Given the description of an element on the screen output the (x, y) to click on. 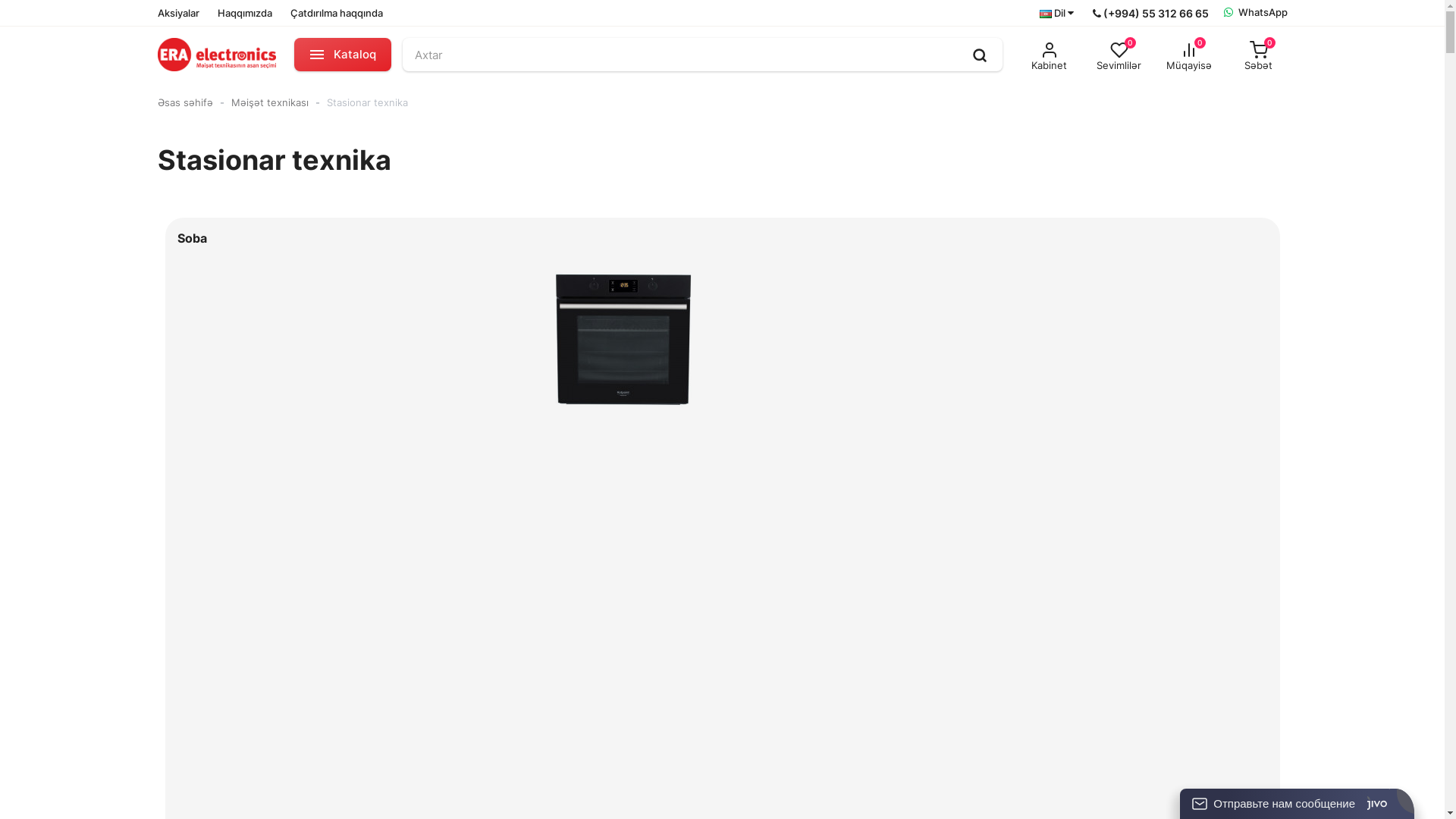
Kabinet Element type: text (1049, 55)
Soba Element type: hover (623, 338)
Aksiyalar Element type: text (178, 12)
WhatsApp Element type: text (1255, 12)
ERA Electronics Element type: hover (216, 54)
Dil Element type: text (1055, 13)
(+994) 55 312 66 65 Element type: text (1150, 12)
Azerbaijani Element type: hover (1044, 13)
